Given the description of an element on the screen output the (x, y) to click on. 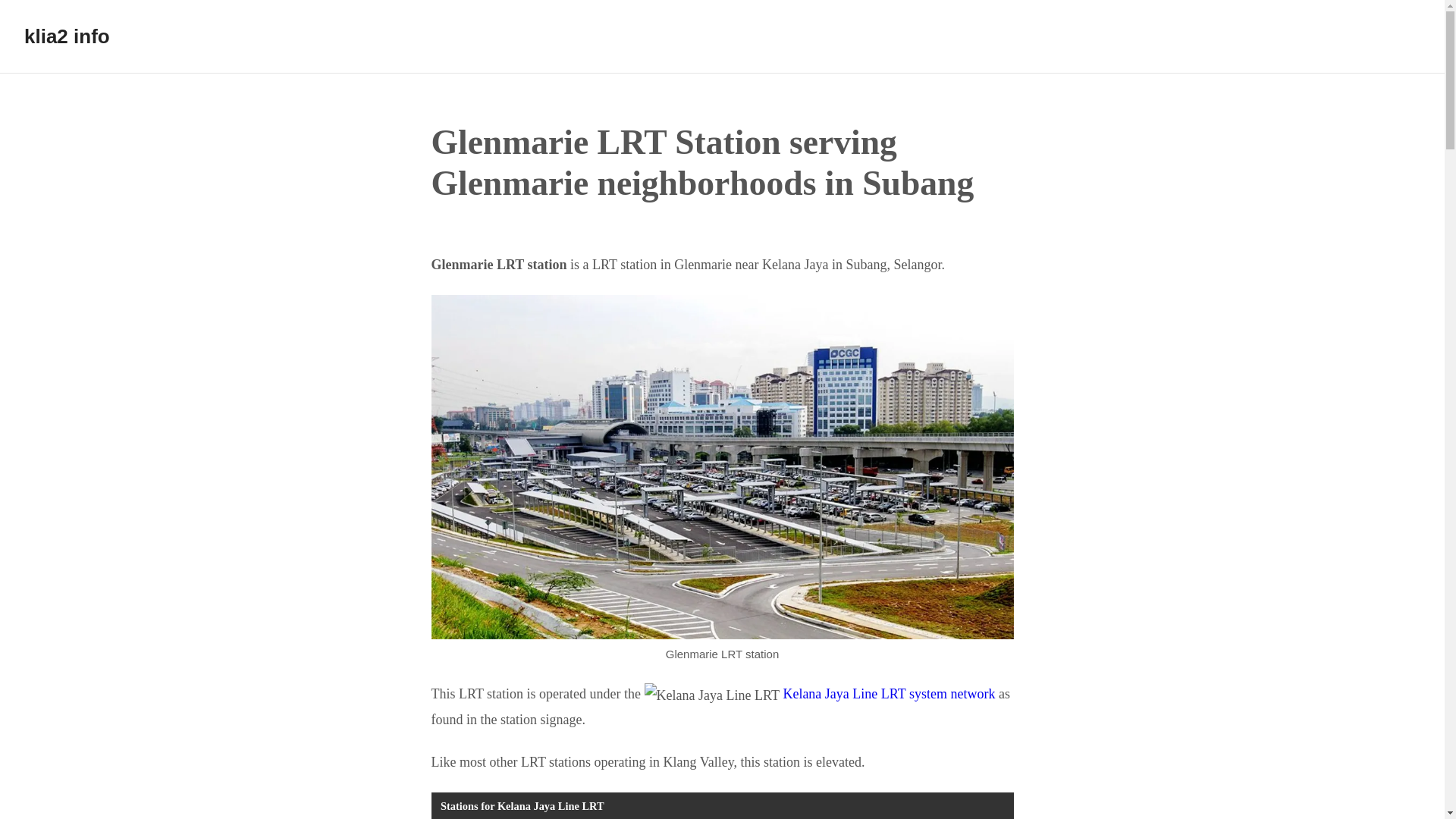
klia2 info (67, 36)
Kelana Jaya Line LRT system network (888, 693)
